Given the description of an element on the screen output the (x, y) to click on. 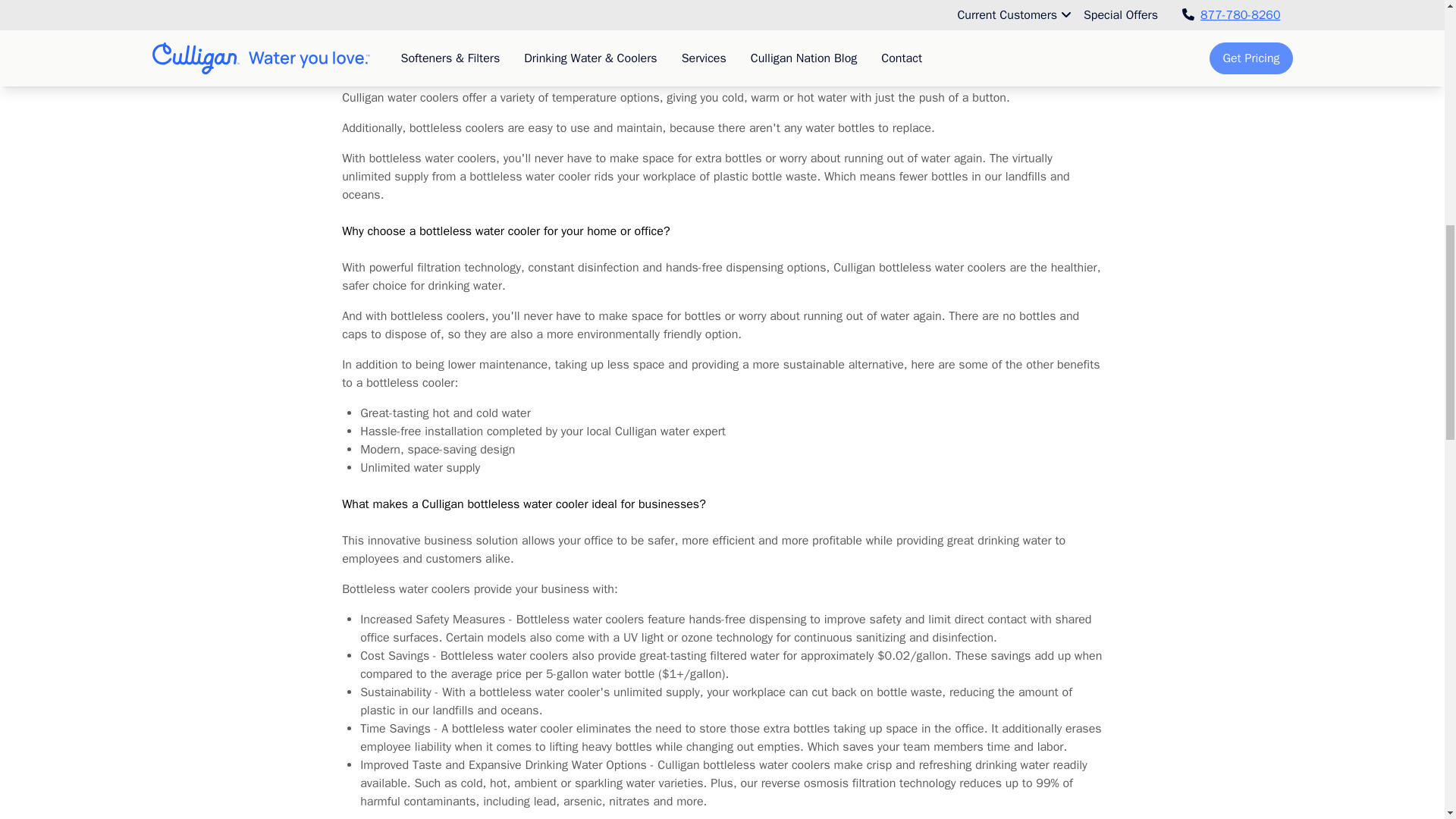
Bottleless water coolers (406, 18)
